Given the description of an element on the screen output the (x, y) to click on. 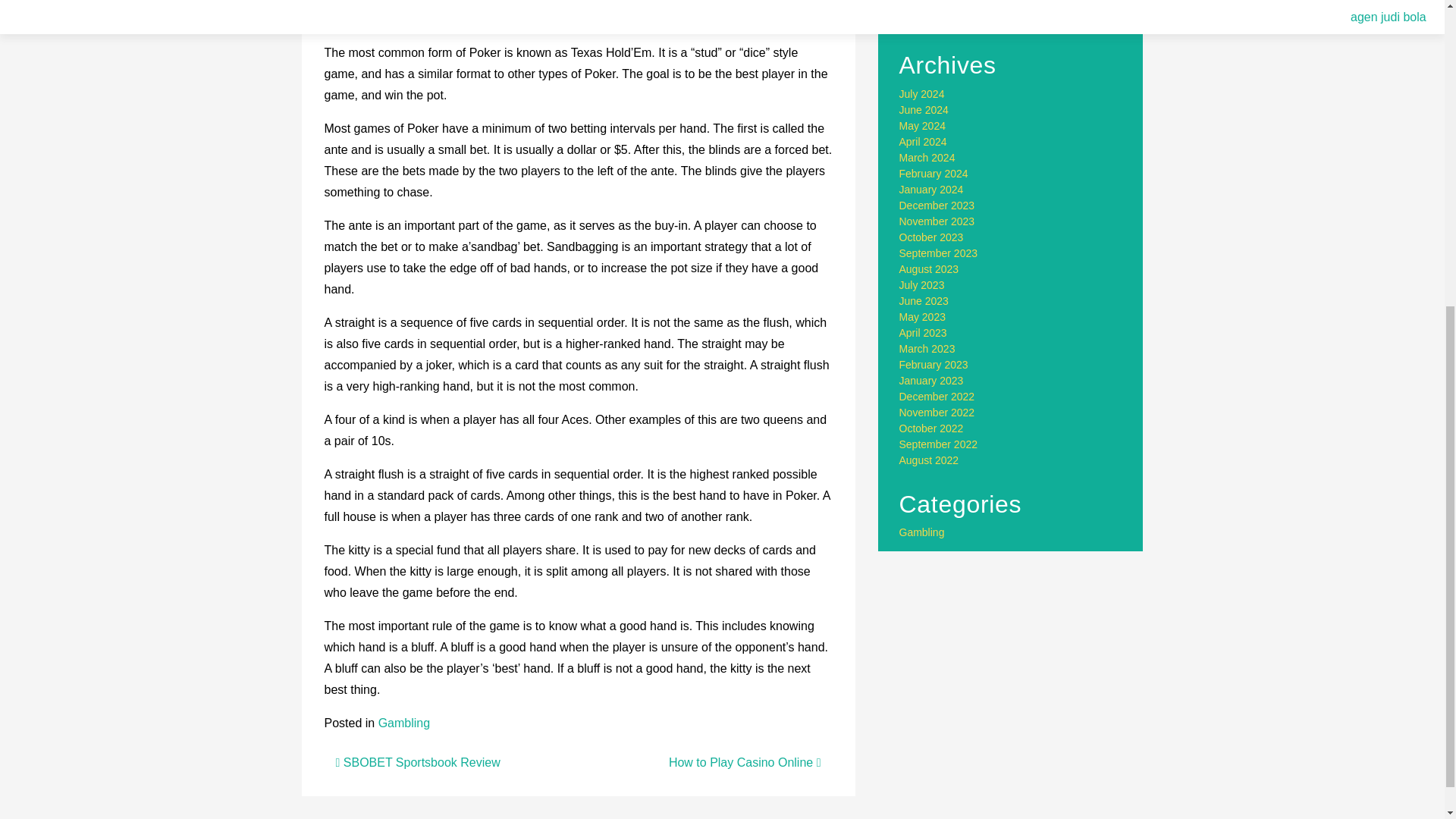
September 2022 (938, 444)
September 2023 (938, 253)
November 2023 (937, 221)
November 2022 (937, 412)
July 2024 (921, 93)
October 2023 (931, 236)
April 2024 (923, 141)
June 2024 (924, 110)
January 2024 (931, 189)
May 2024 (921, 125)
March 2024 (927, 157)
Gambling (403, 722)
August 2023 (929, 268)
June 2023 (924, 300)
January 2023 (931, 380)
